Given the description of an element on the screen output the (x, y) to click on. 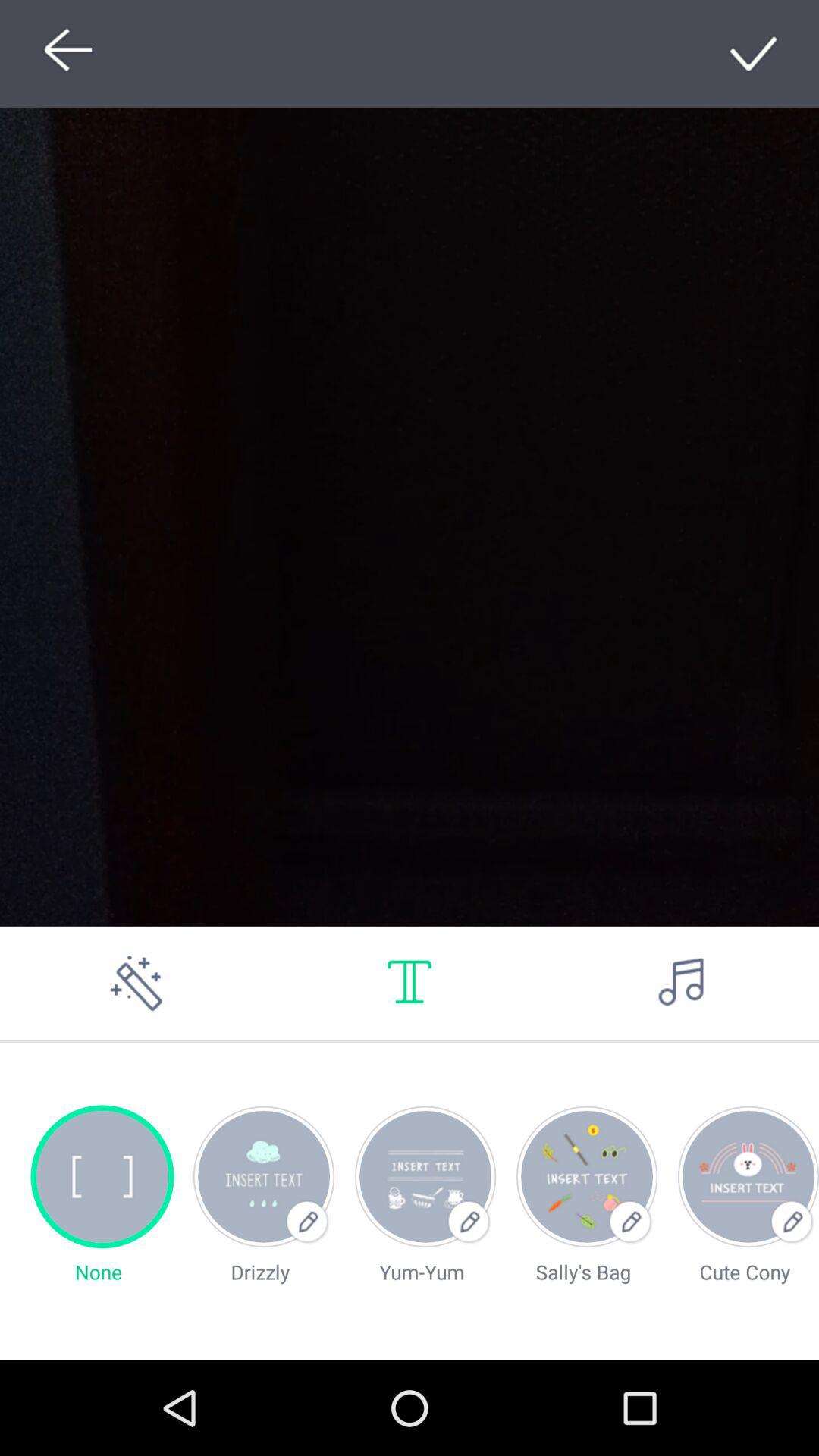
send a text message (409, 983)
